Given the description of an element on the screen output the (x, y) to click on. 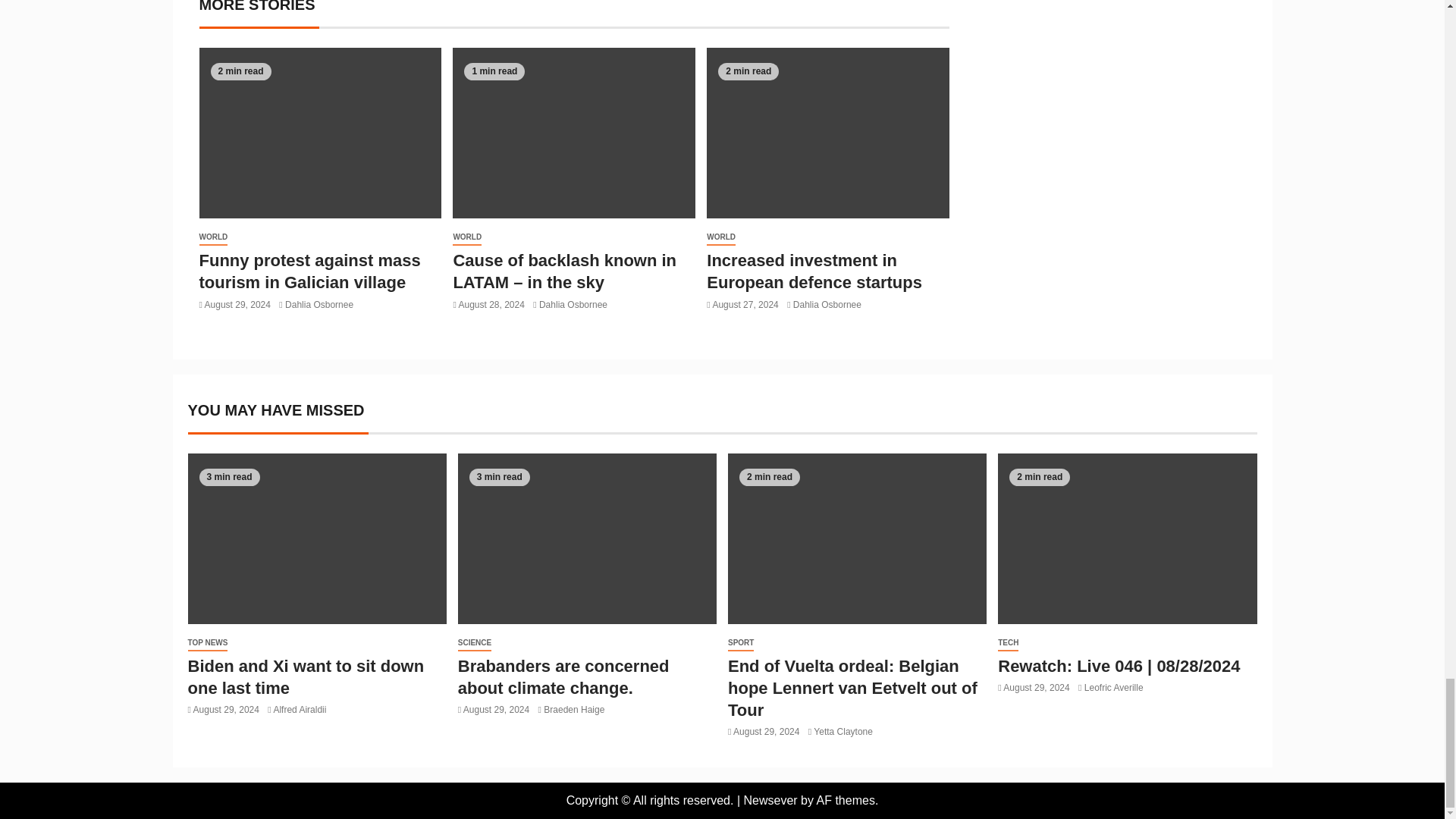
WORLD (212, 237)
Funny protest against mass tourism in Galician village (309, 270)
Dahlia Osbornee (319, 304)
